Given the description of an element on the screen output the (x, y) to click on. 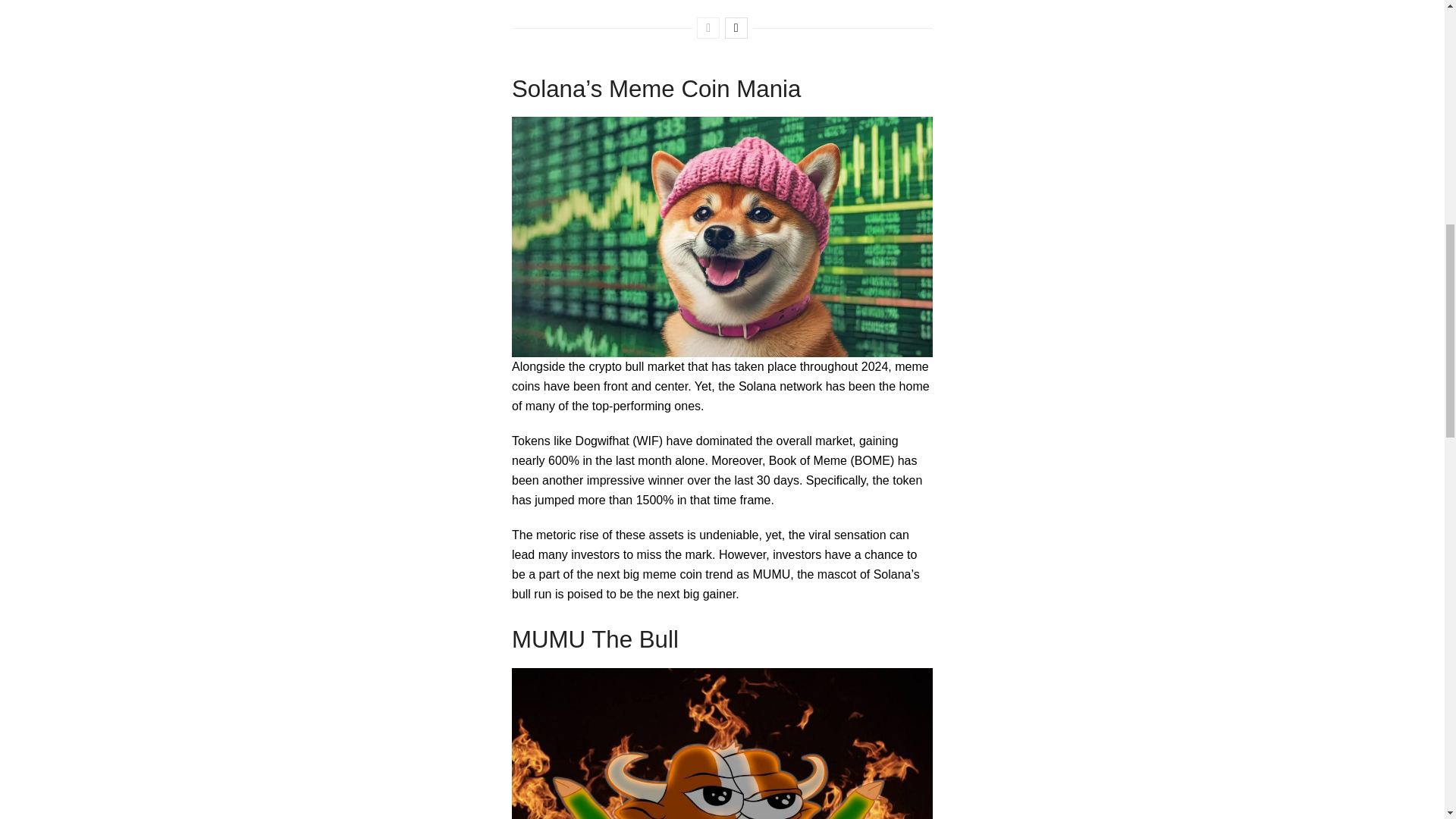
Next (736, 27)
Previous (708, 27)
